Given the description of an element on the screen output the (x, y) to click on. 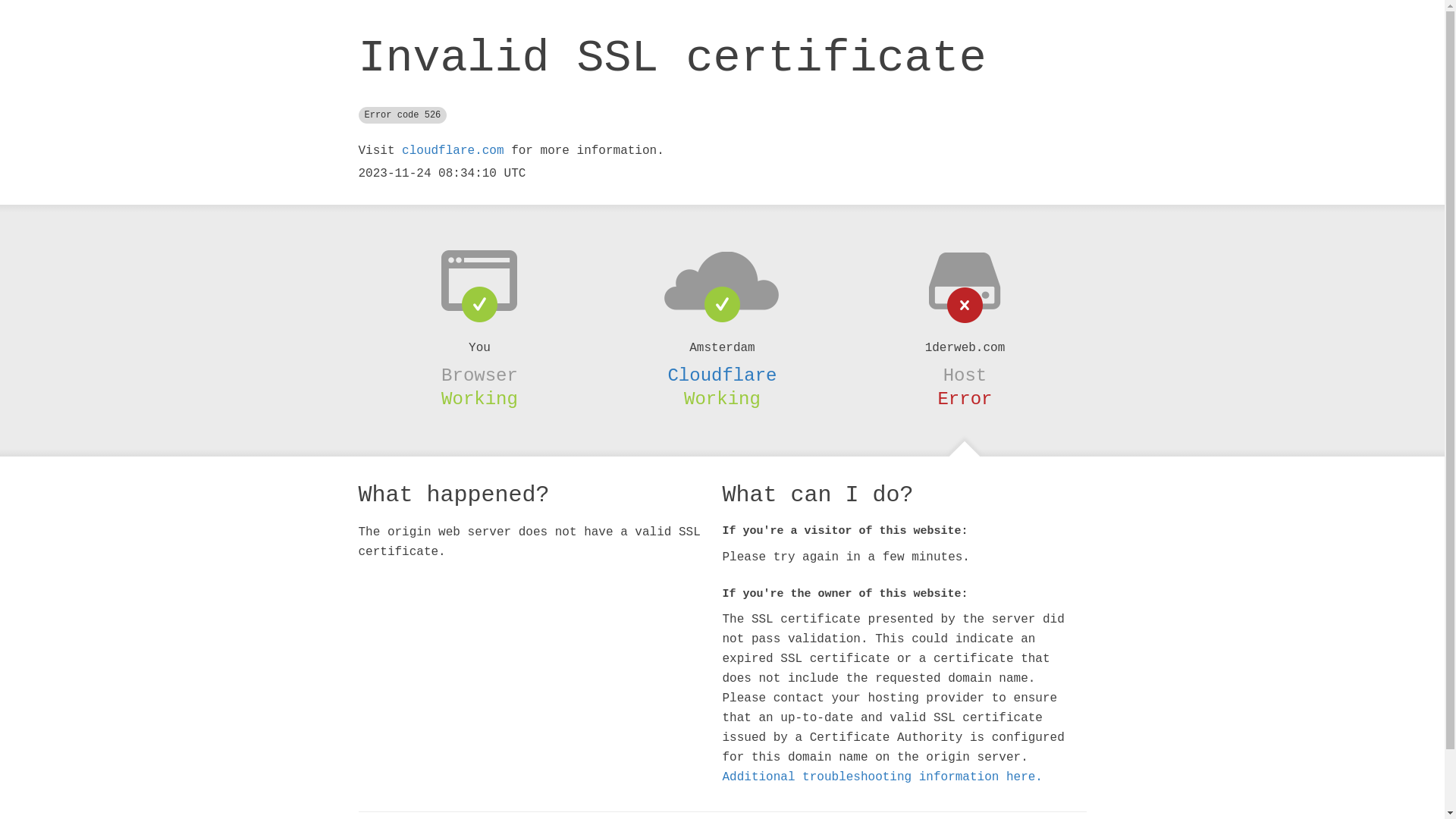
cloudflare.com Element type: text (452, 150)
Cloudflare Element type: text (721, 375)
Additional troubleshooting information here. Element type: text (881, 777)
